Given the description of an element on the screen output the (x, y) to click on. 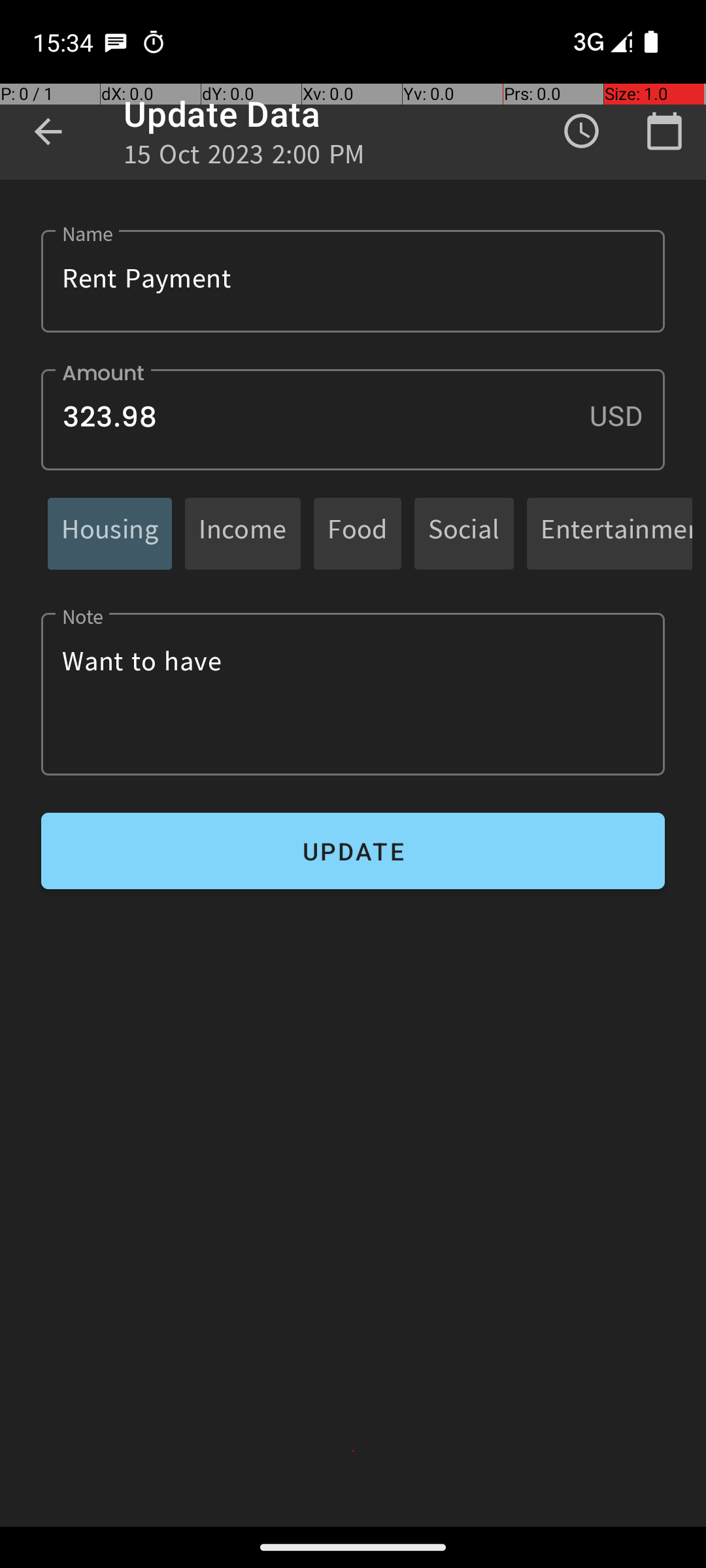
15 Oct 2023 2:00 PM Element type: android.widget.TextView (244, 157)
Rent Payment Element type: android.widget.EditText (352, 280)
323.98 Element type: android.widget.EditText (352, 419)
SMS Messenger notification: Sophie Gonzalez Element type: android.widget.ImageView (115, 41)
